Given the description of an element on the screen output the (x, y) to click on. 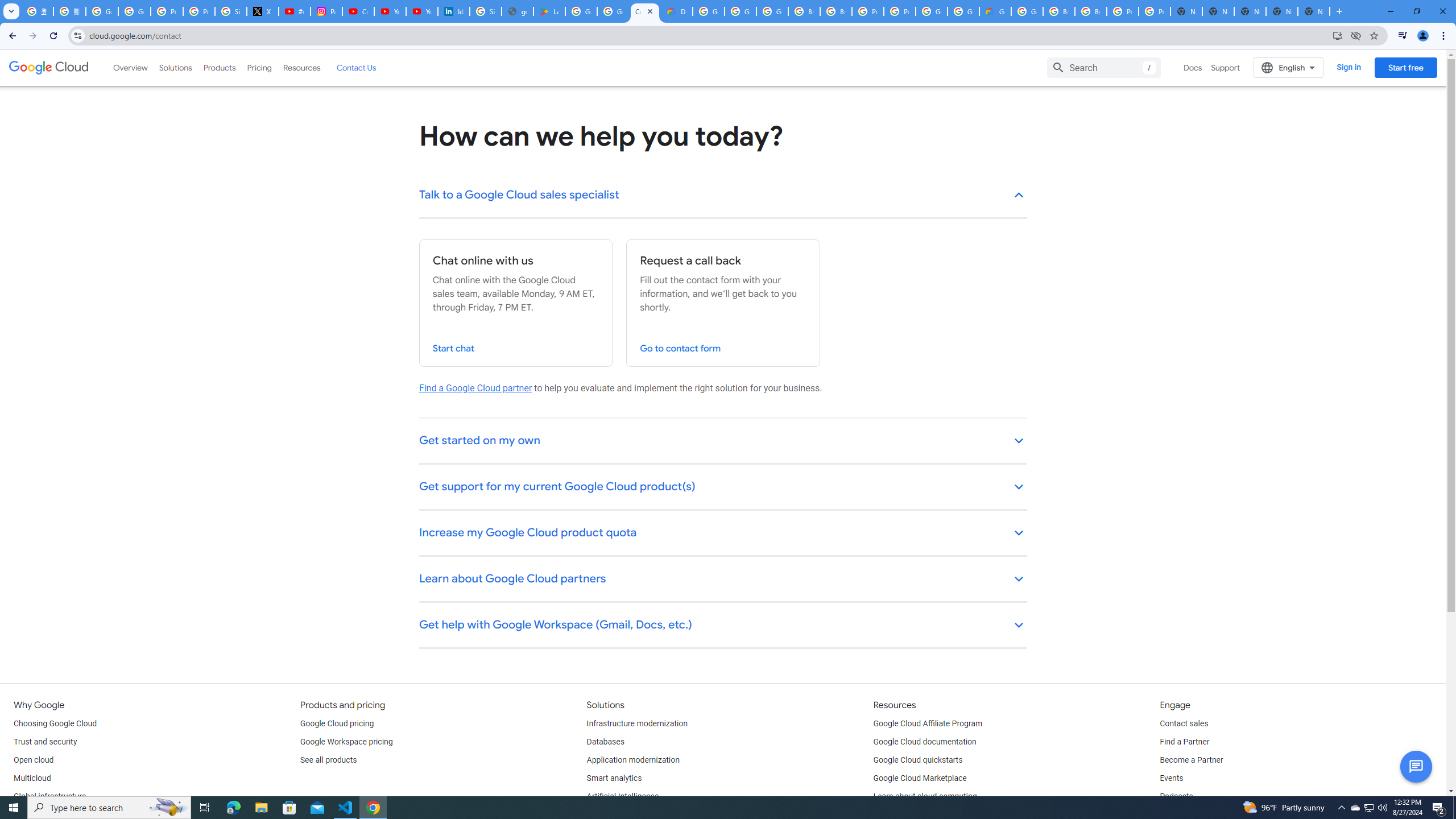
Google Cloud (48, 67)
See all products (327, 760)
Search (1103, 67)
Browse Chrome as a guest - Computer - Google Chrome Help (1059, 11)
Google Cloud documentation (924, 742)
Trust and security (45, 742)
New Tab (1313, 11)
Google Cloud quickstarts (917, 760)
Minimize (1390, 11)
System (6, 6)
Open cloud (33, 760)
Products (218, 67)
